Given the description of an element on the screen output the (x, y) to click on. 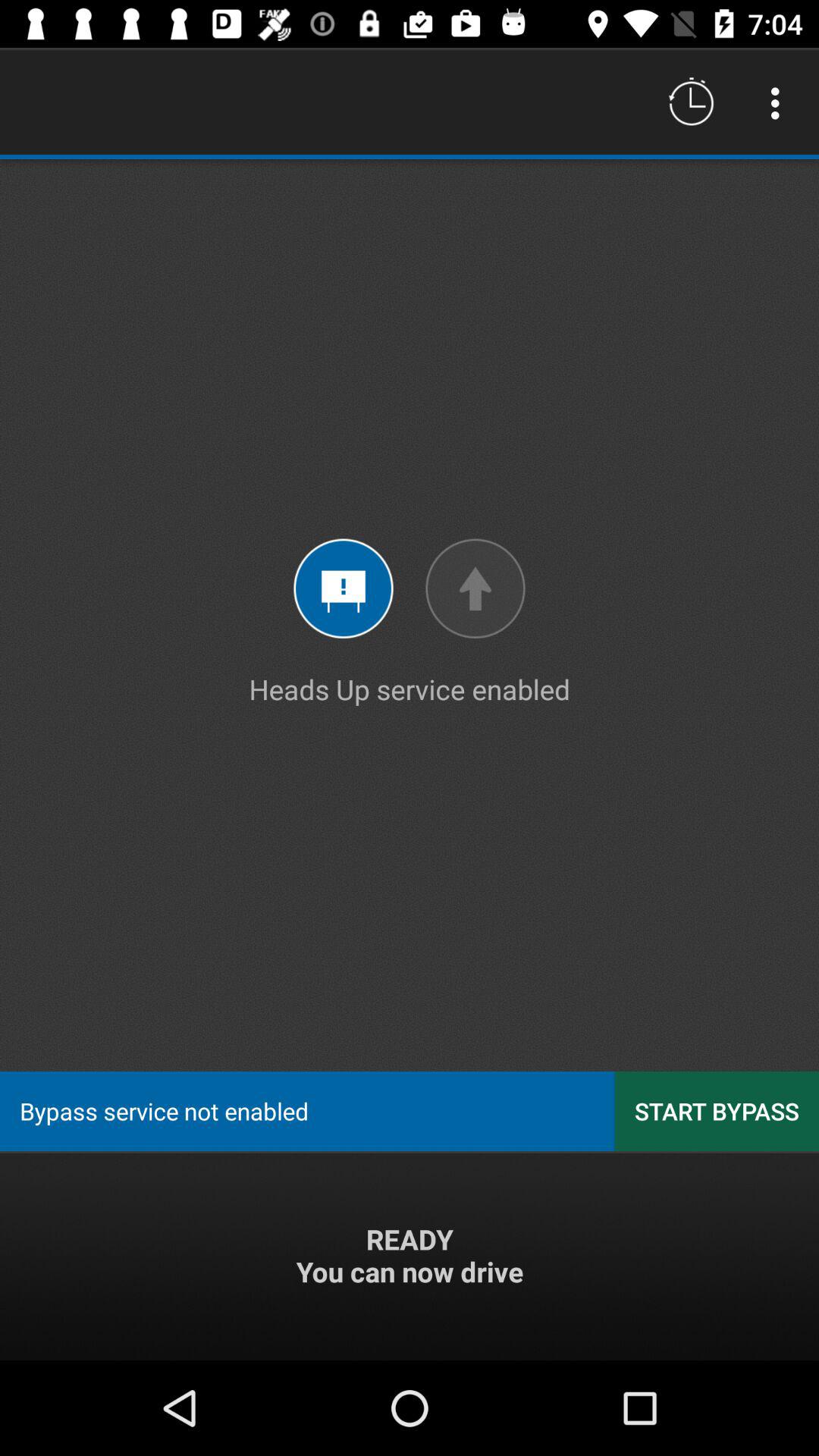
tap the item at the bottom right corner (716, 1111)
